Given the description of an element on the screen output the (x, y) to click on. 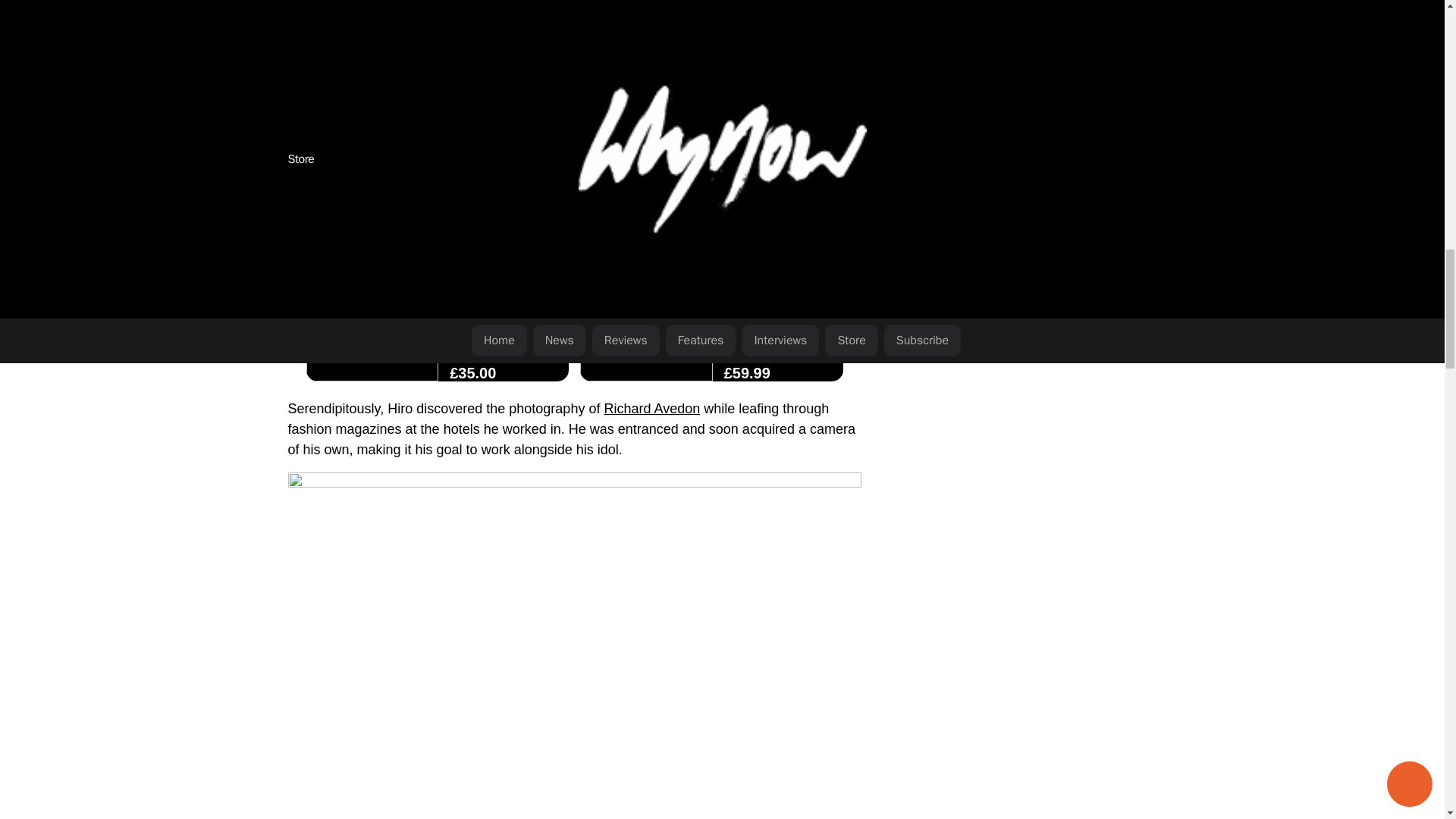
Accessories (748, 350)
Tokyo (305, 194)
'M' 6 Panel Cap (503, 317)
Richard Avedon (652, 408)
Japan (540, 174)
Harmonica Edition Two (777, 317)
Accessories (474, 350)
